Given the description of an element on the screen output the (x, y) to click on. 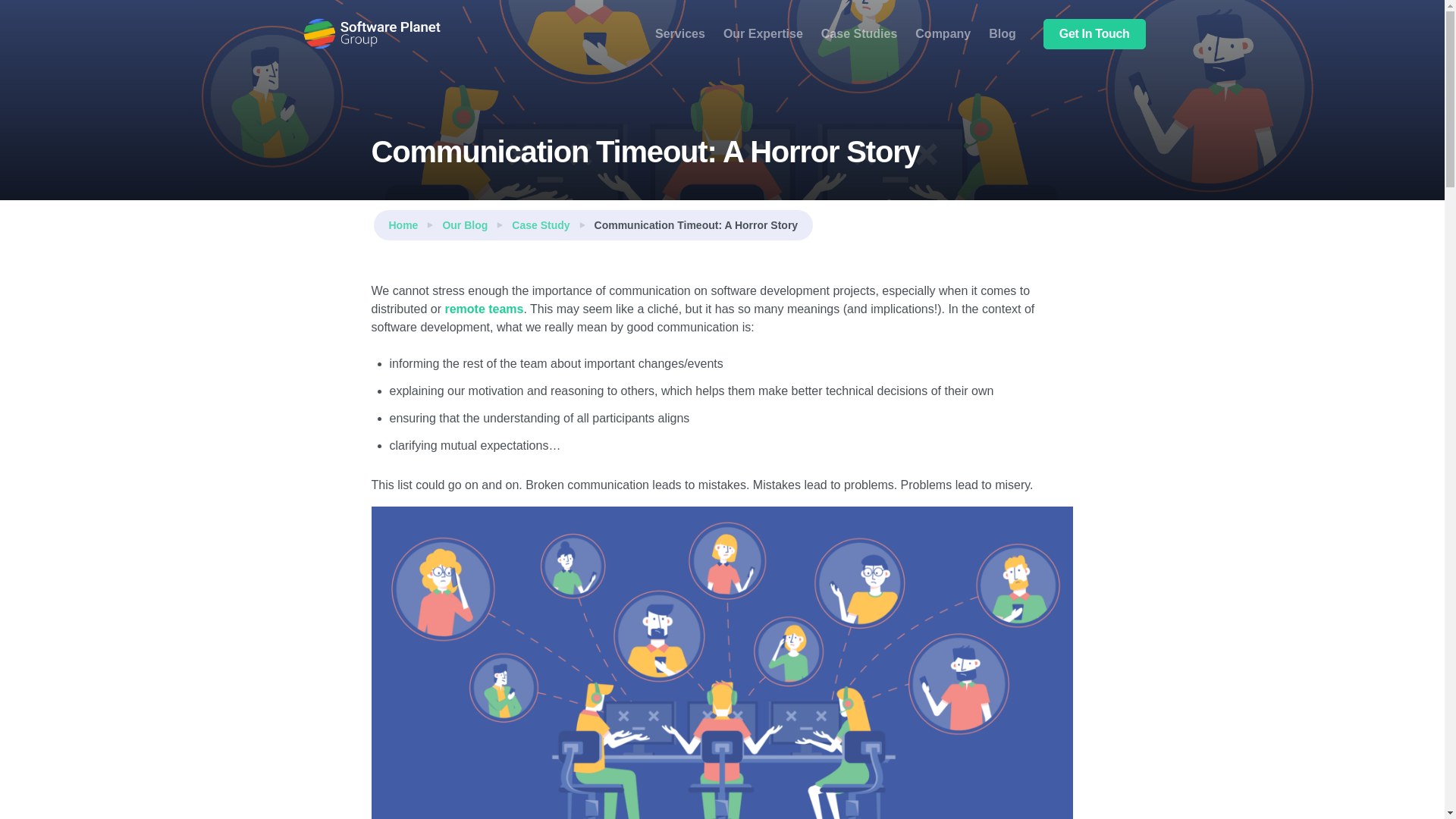
Services (680, 33)
Services (680, 33)
Our Expertise (763, 33)
